Given the description of an element on the screen output the (x, y) to click on. 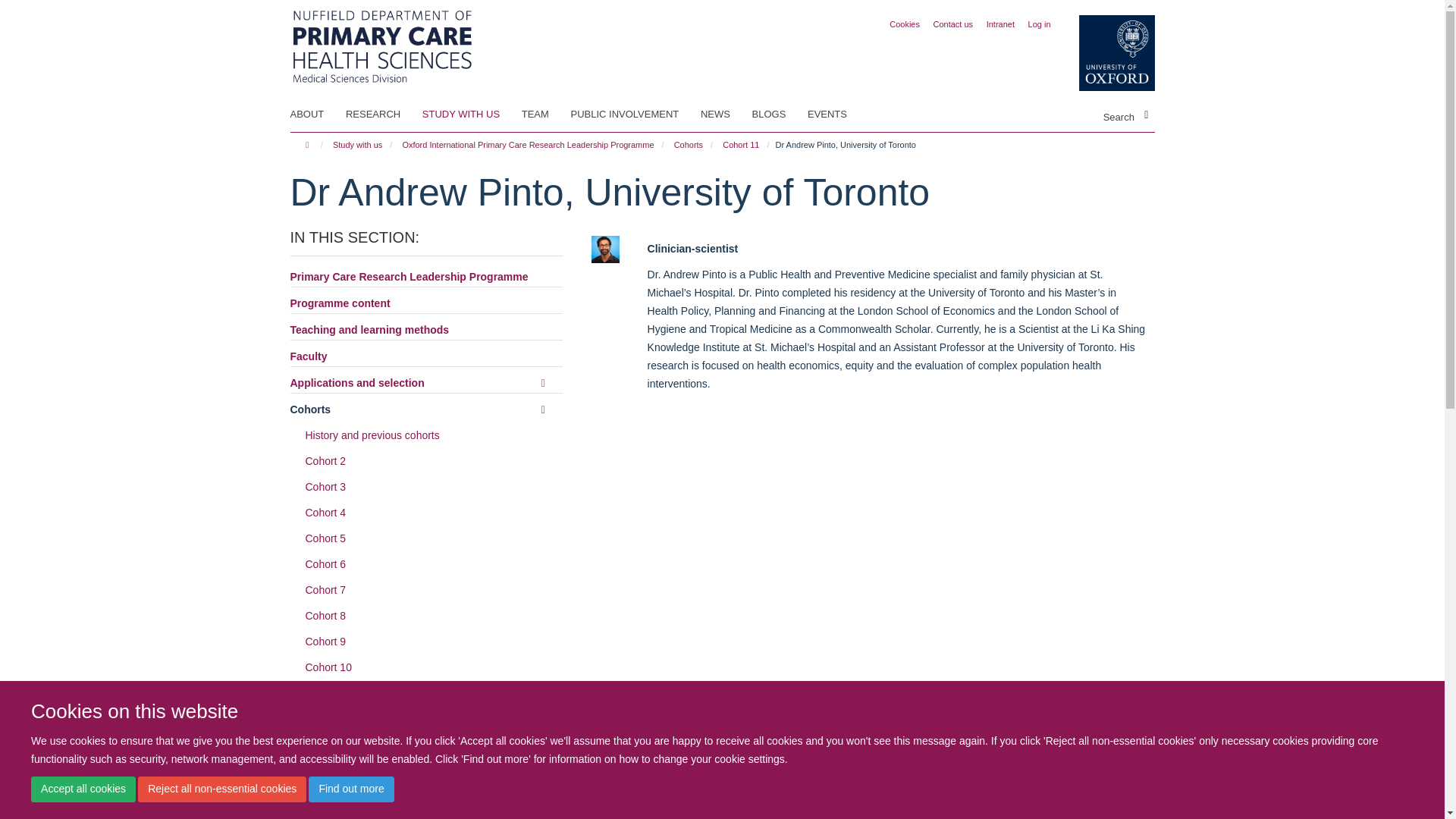
Accept all cookies (82, 789)
Reject all non-essential cookies (221, 789)
Log in (1039, 23)
Find out more (350, 789)
Intranet (1000, 23)
Contact us (953, 23)
Cookies (904, 23)
